Given the description of an element on the screen output the (x, y) to click on. 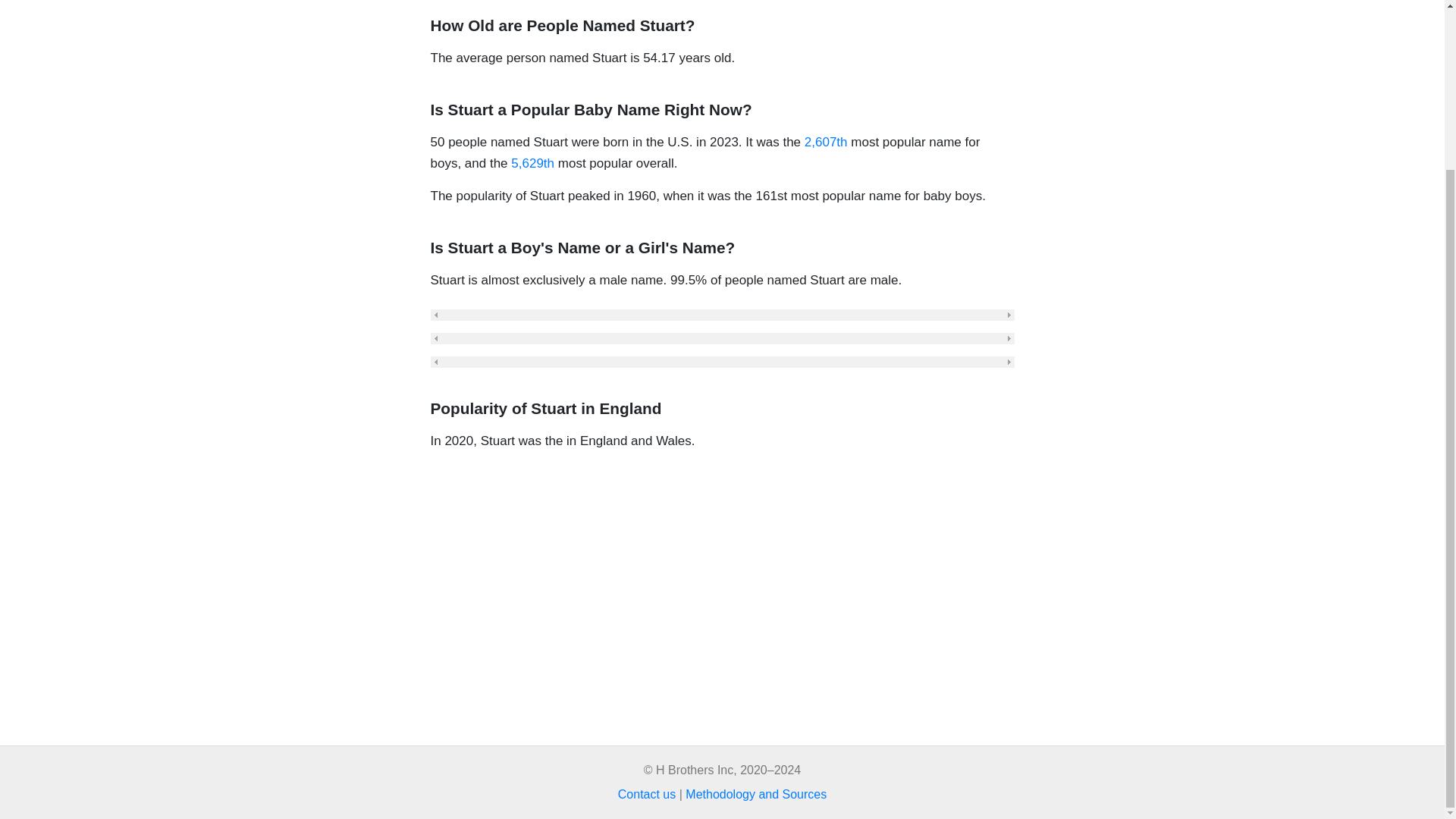
Contact us (646, 793)
5,629th (532, 163)
2,607th (826, 142)
Methodology and Sources (756, 793)
